Given the description of an element on the screen output the (x, y) to click on. 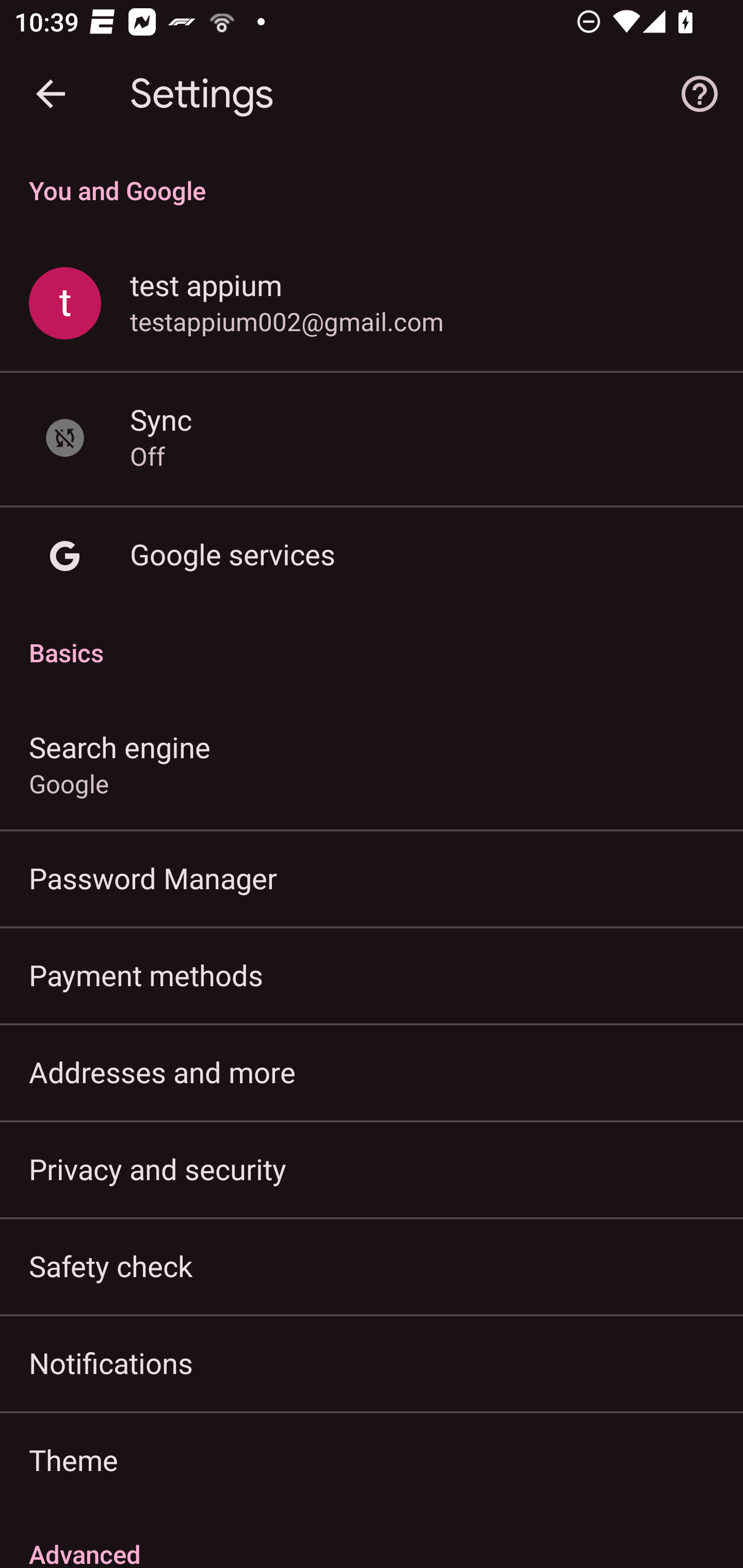
Navigate up (50, 93)
Help & feedback (699, 93)
test appium testappium002@gmail.com (371, 303)
Sync Off (371, 437)
Google services (371, 555)
Search engine Google (371, 763)
Password Manager (371, 877)
Payment methods (371, 974)
Addresses and more (371, 1071)
Privacy and security (371, 1167)
Safety check (371, 1264)
Notifications (371, 1362)
Theme (371, 1459)
